Given the description of an element on the screen output the (x, y) to click on. 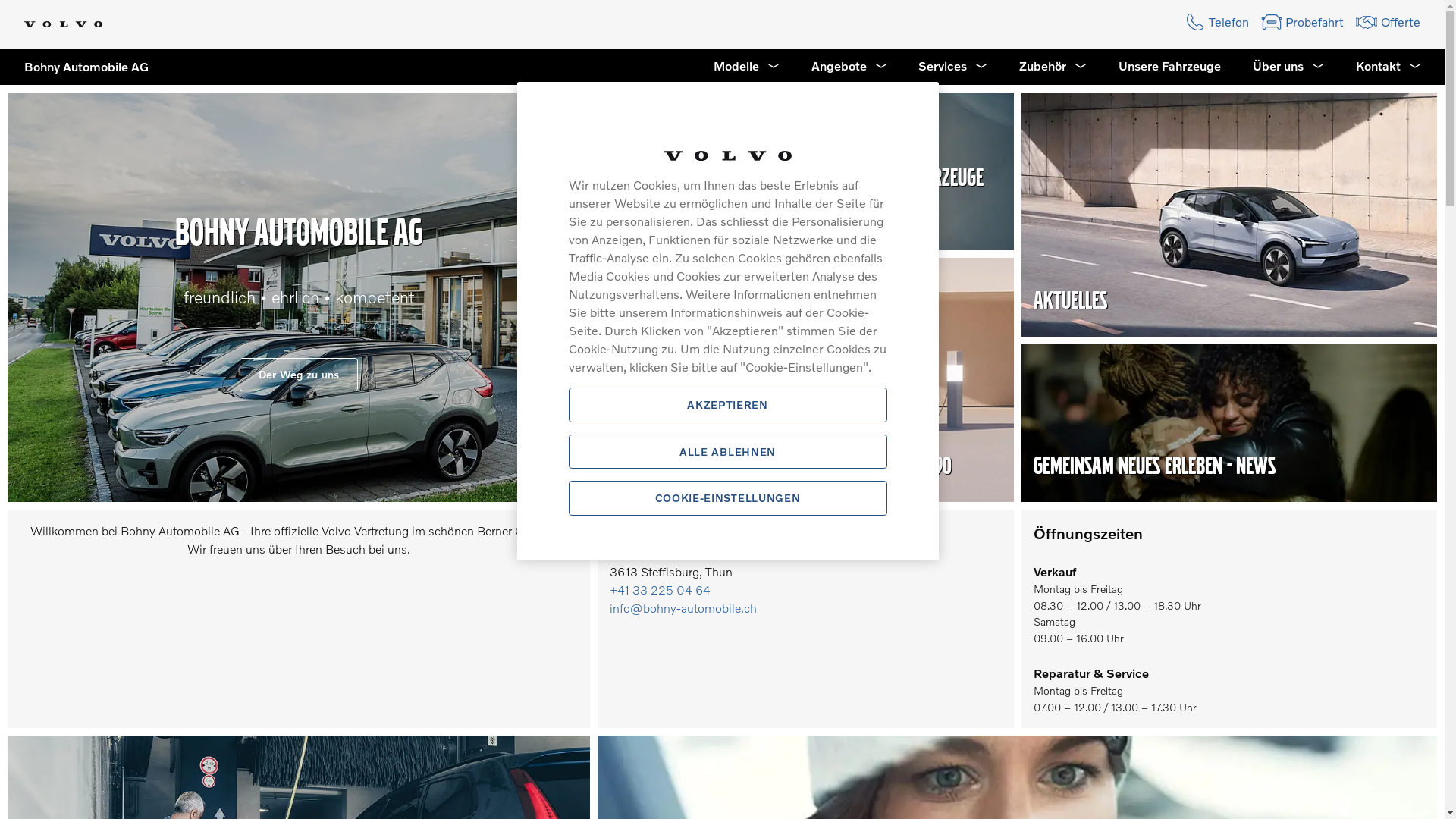
Der Weg zu uns Element type: text (298, 374)
Volvo Logo Element type: hover (63, 24)
Unsere Fahrzeuge Element type: text (1168, 66)
UNSER NEUER VOLLELEKTRISCHER SUV: VOLVO EX90 Element type: text (780, 465)
ALLE ABLEHNEN Element type: text (727, 451)
AKZEPTIEREN Element type: text (727, 404)
+41 33 225 04 64 Element type: text (659, 589)
AKTUELLES Element type: text (1069, 299)
Telefon Element type: text (1216, 21)
Kontakt Element type: text (1388, 66)
Offerte Element type: text (1387, 21)
GEMEINSAM NEUES ERLEBEN - NEWS Element type: text (1153, 465)
Angebote Element type: text (848, 66)
info@bohny-automobile.ch Element type: text (682, 607)
Probefahrt Element type: text (1302, 21)
Services Element type: text (952, 66)
NEUWAGEN ODER OCCASION - JETZT UNSERE FAHRZEUGE ENTDECKEN Element type: text (796, 195)
Bohny Automobile AG Element type: text (74, 66)
Modelle Element type: text (746, 66)
COOKIE-EINSTELLUNGEN Element type: text (727, 497)
